Given the description of an element on the screen output the (x, y) to click on. 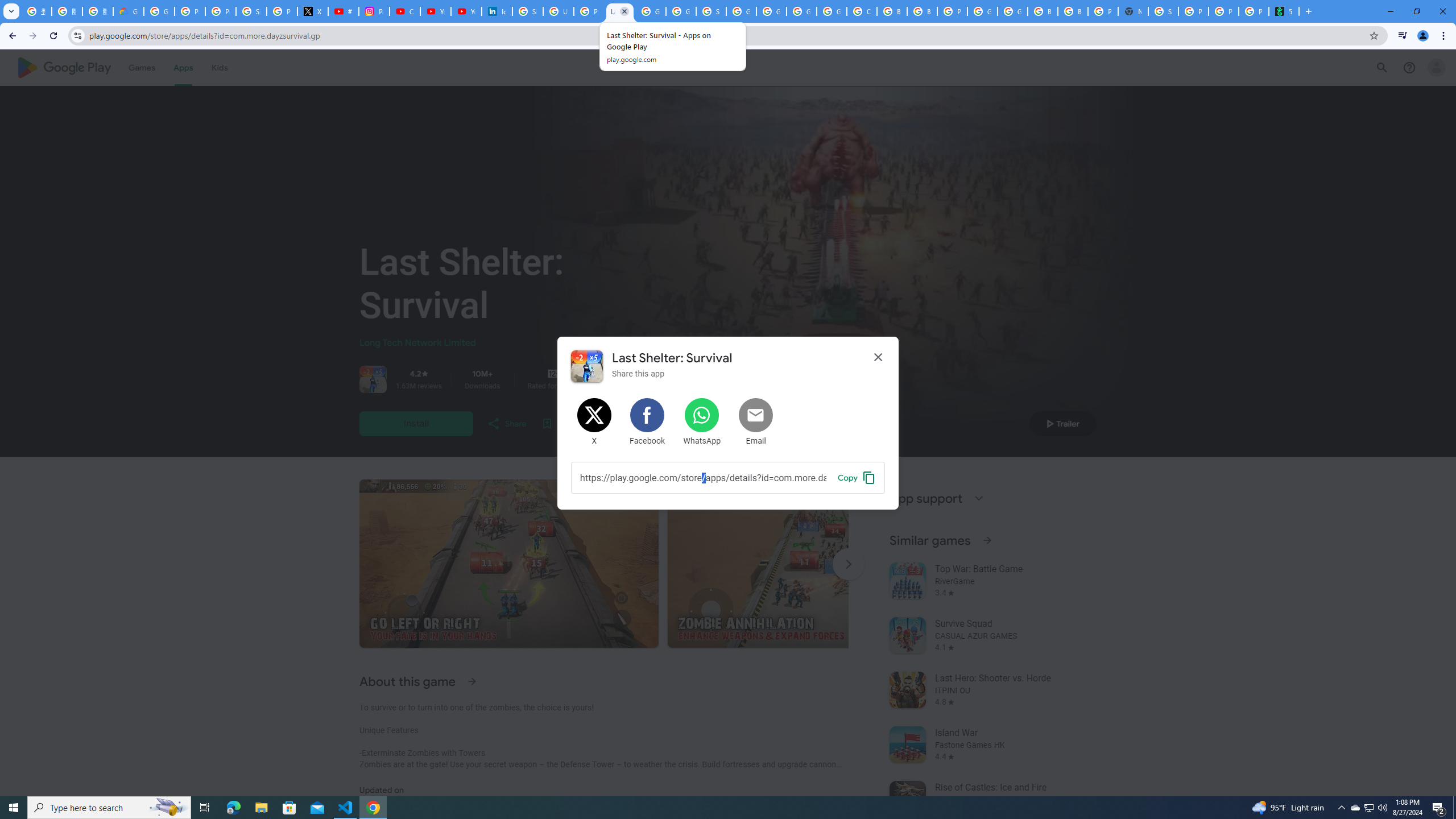
Google Cloud Platform (982, 11)
Google Workspace - Specific Terms (681, 11)
